Given the description of an element on the screen output the (x, y) to click on. 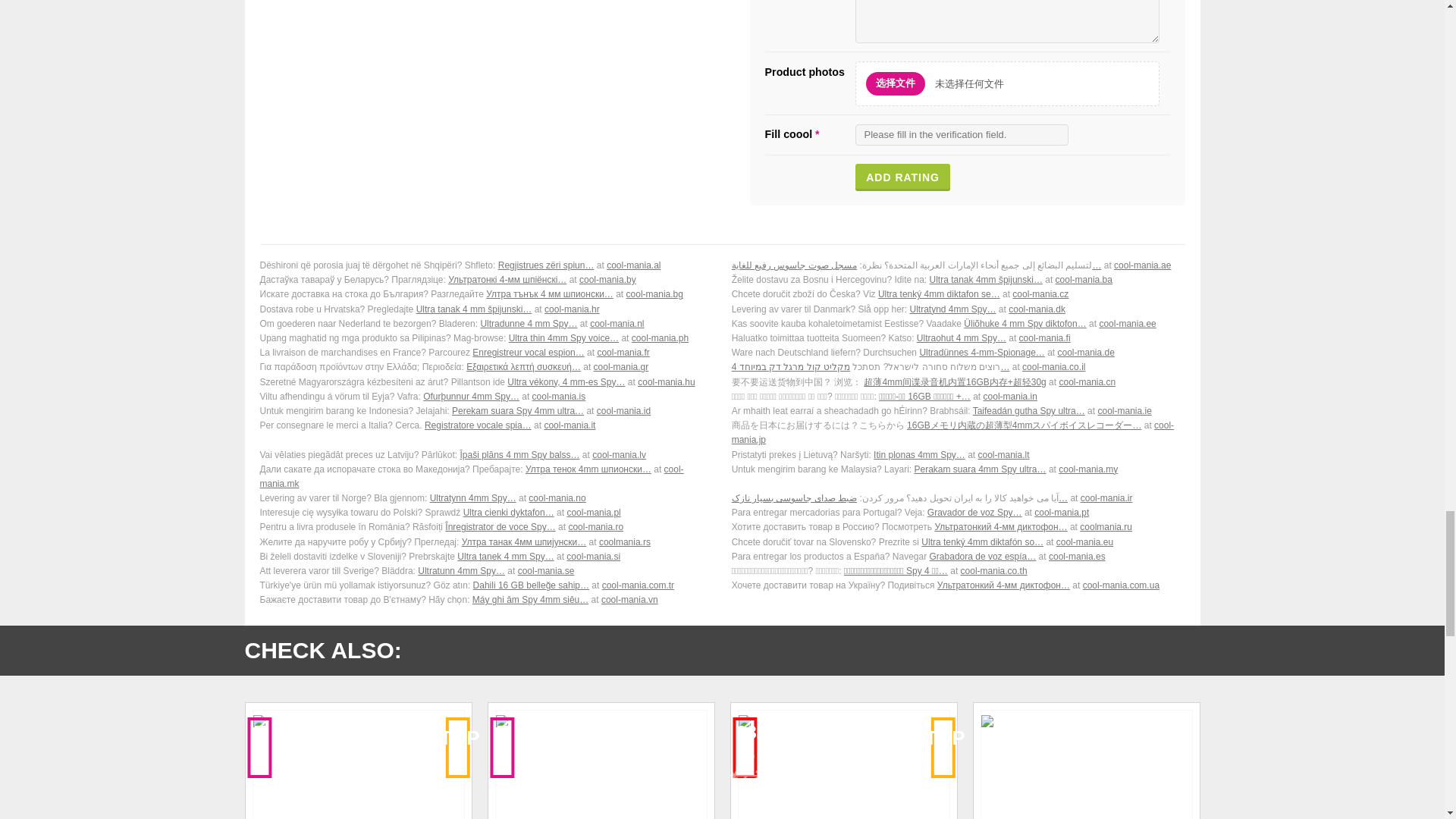
To deliver goods worldwide? Browse: (486, 338)
To deliver goods worldwide? Browse: (958, 323)
To deliver goods worldwide? Browse: (958, 294)
To deliver goods worldwide? Browse: (486, 352)
cool-mania.al (634, 265)
Add rating (903, 176)
To deliver goods worldwide? Browse: (486, 367)
To deliver goods worldwide? Browse: (486, 294)
To deliver goods worldwide? Browse: (958, 382)
To deliver goods worldwide? Browse: (486, 265)
To deliver goods worldwide? Browse: (486, 309)
To deliver goods worldwide? Browse: (958, 265)
To deliver goods worldwide? Browse: (486, 323)
To deliver goods worldwide? Browse: (486, 279)
To deliver goods worldwide? Browse: (958, 279)
